Given the description of an element on the screen output the (x, y) to click on. 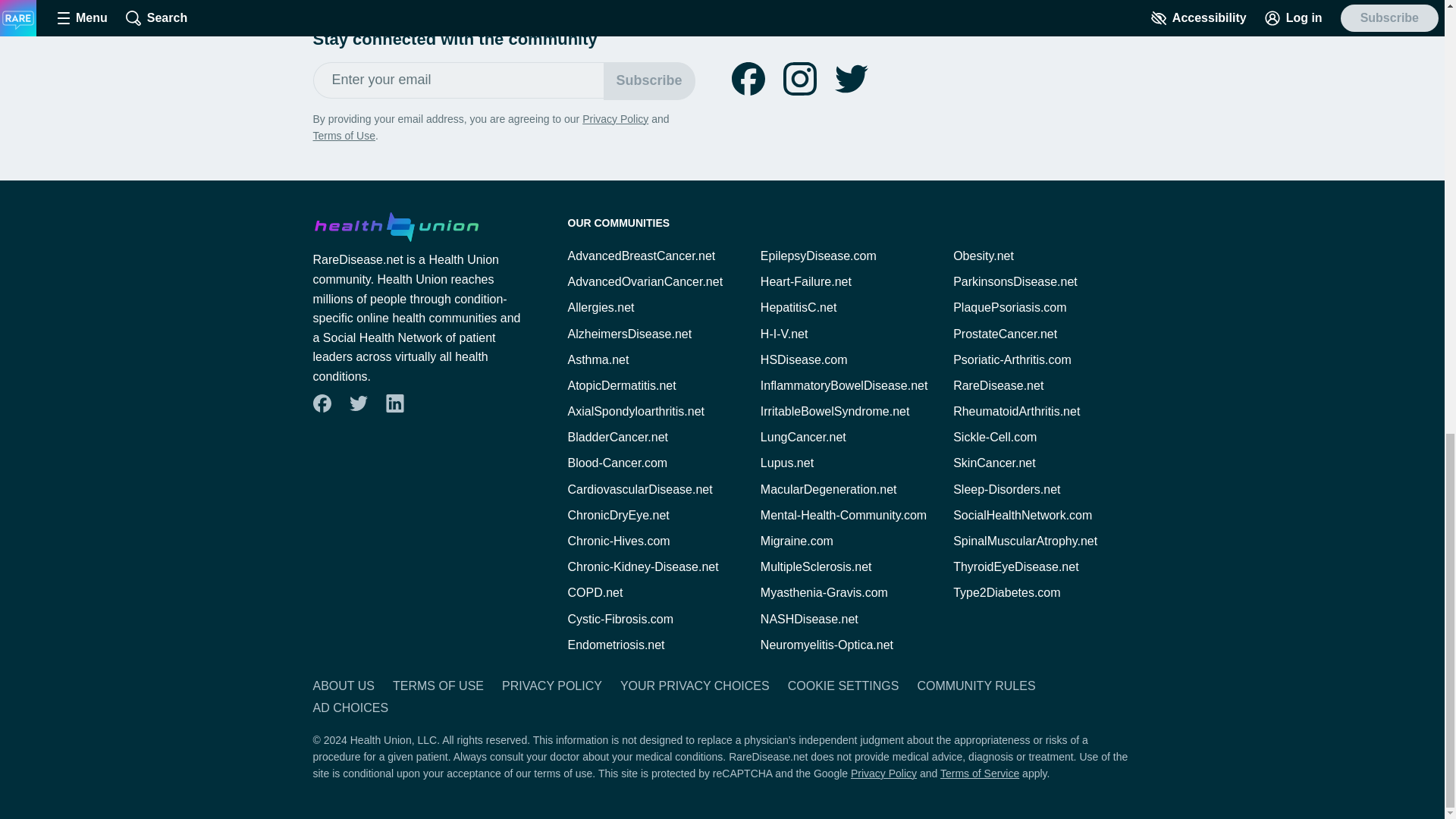
Follow us on instagram (799, 78)
Follow us on facebook (320, 403)
AtopicDermatitis.net (621, 385)
Follow us on twitter (357, 403)
AxialSpondyloarthritis.net (635, 410)
Follow us on twitter (850, 78)
CardiovascularDisease.net (639, 489)
Chronic-Kidney-Disease.net (642, 566)
Cystic-Fibrosis.com (619, 618)
Privacy Policy (614, 119)
